Given the description of an element on the screen output the (x, y) to click on. 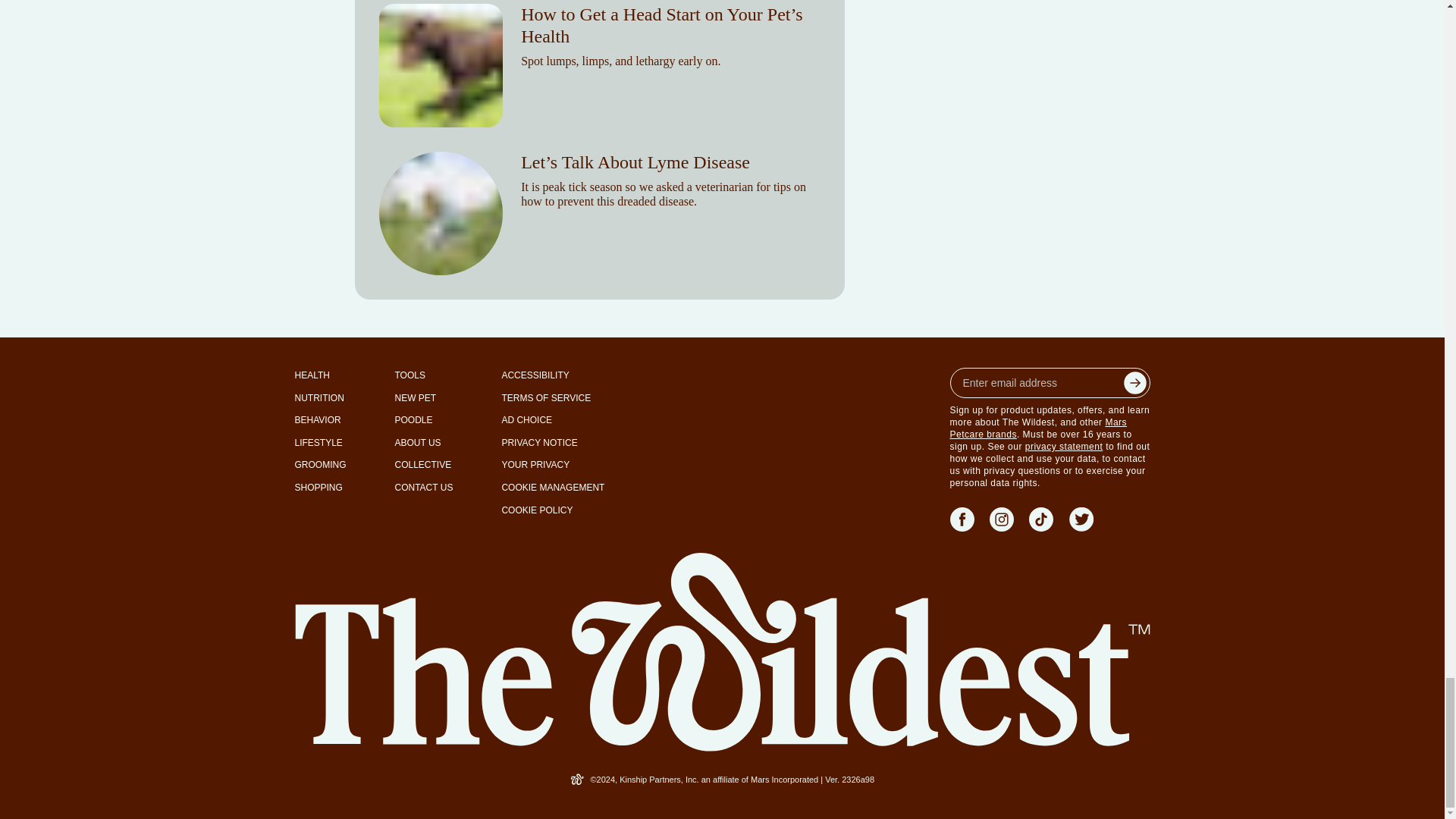
HEALTH (311, 375)
NUTRITION (318, 398)
The letter "W" from the Wildest logo (577, 779)
